Given the description of an element on the screen output the (x, y) to click on. 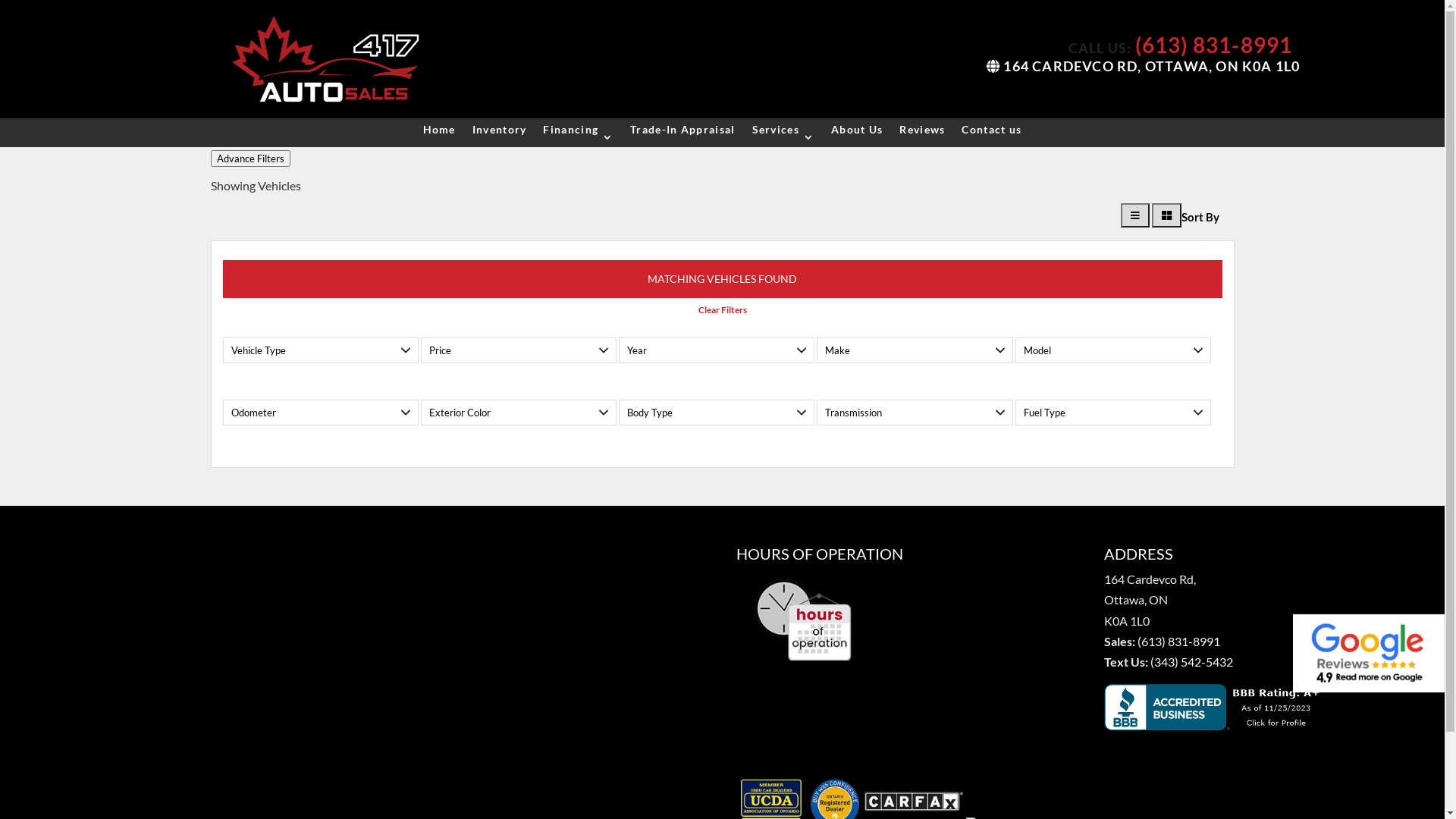
Inventory Element type: text (499, 132)
Exterior Color Element type: text (518, 412)
(613) 831-8991 Element type: text (1178, 640)
Reviews Element type: text (921, 132)
Odometer Element type: text (320, 412)
Advance Filters Element type: text (250, 158)
Financing Element type: text (577, 132)
About Us Element type: text (856, 132)
(343) 542-5432 Element type: text (1191, 661)
Model Element type: text (1113, 350)
Contact us Element type: text (991, 132)
Price Element type: text (518, 350)
Transmission Element type: text (914, 412)
Services Element type: text (783, 132)
Fuel Type Element type: text (1113, 412)
Body Type Element type: text (716, 412)
Year Element type: text (716, 350)
Make Element type: text (914, 350)
Vehicle Type Element type: text (320, 350)
Apply Filters Element type: text (35, 5)
(613) 831-8991 Element type: text (1213, 44)
web-logo Element type: hover (325, 59)
Home Element type: text (439, 132)
Trade-In Appraisal Element type: text (682, 132)
